Given the description of an element on the screen output the (x, y) to click on. 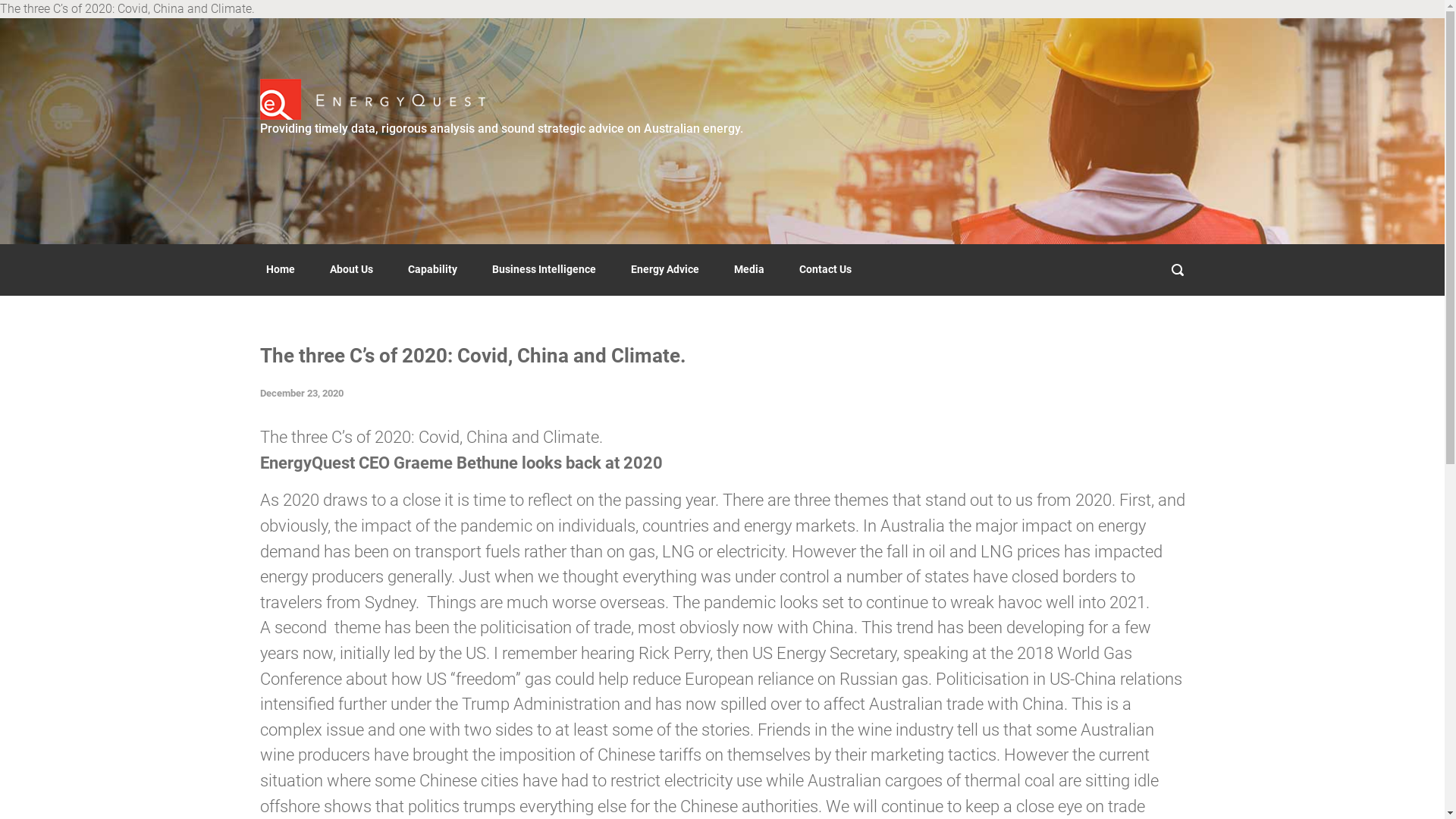
Business Intelligence Element type: text (543, 269)
Energy Advice Element type: text (292, 737)
+61 (0) 417 852 779 Element type: text (1136, 667)
Capability Element type: text (282, 679)
Contact Us Element type: text (722, 729)
Capability Element type: text (432, 269)
Energy Advice Element type: text (664, 269)
service@energyquest.com.au Element type: text (1115, 651)
About Us Element type: text (350, 269)
Media Element type: text (749, 269)
Media Element type: text (721, 701)
About Us Element type: text (280, 651)
Business Intelligence Element type: text (308, 708)
Home Element type: text (279, 269)
Contact Us Element type: text (825, 269)
